Given the description of an element on the screen output the (x, y) to click on. 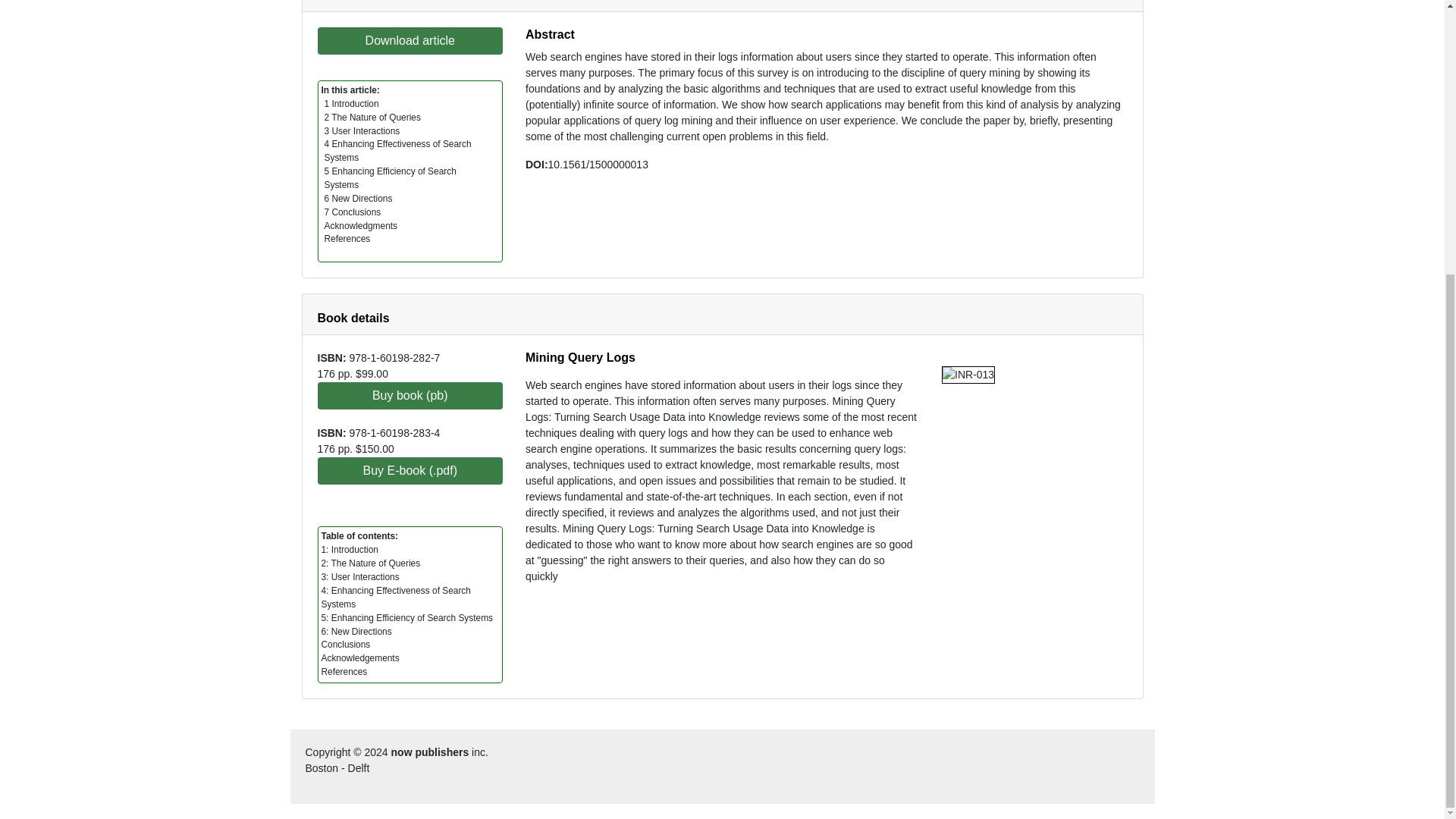
Book details (352, 318)
Download article (409, 40)
Journal details (360, 0)
